Given the description of an element on the screen output the (x, y) to click on. 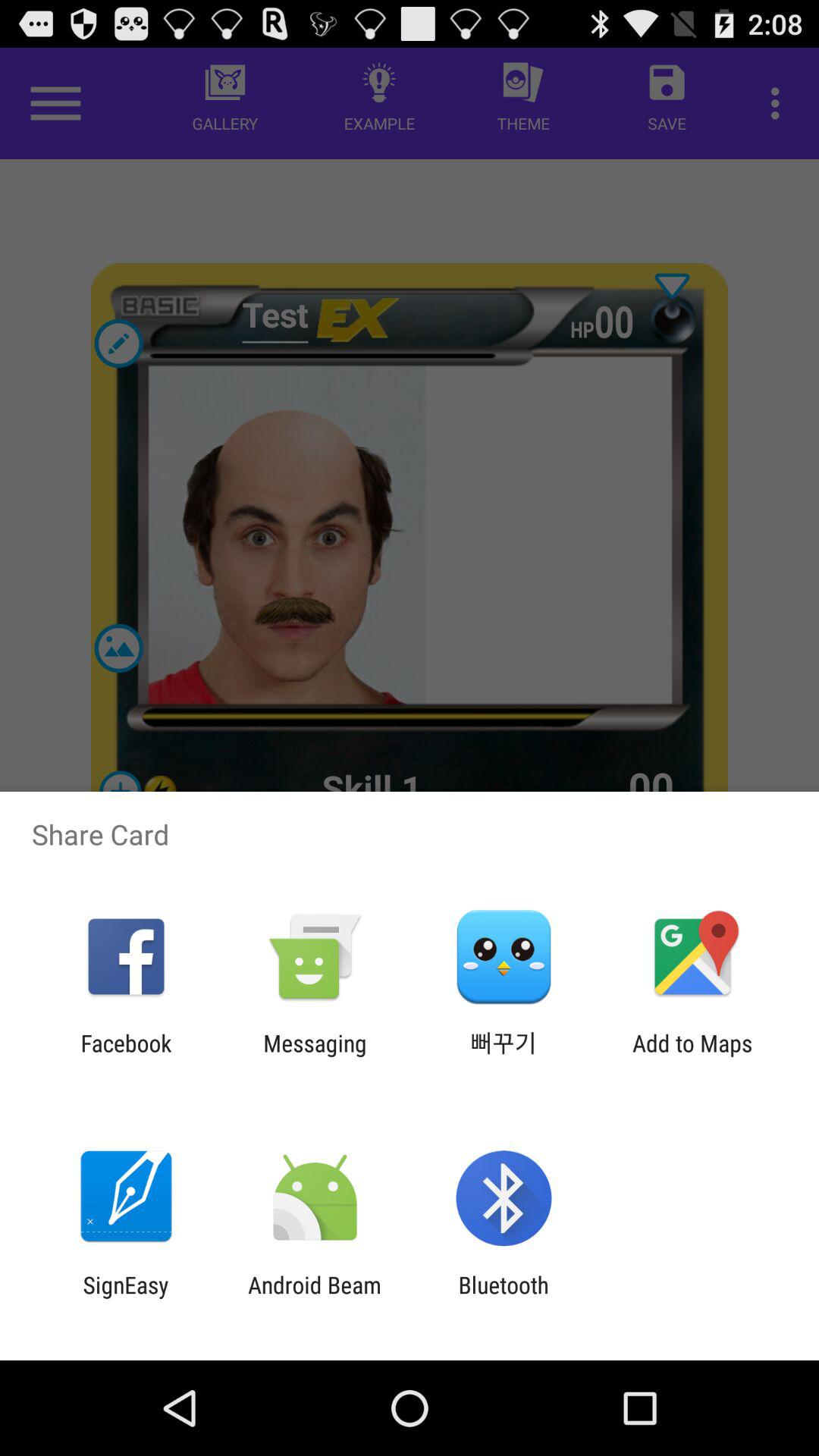
select the app next to messaging (125, 1056)
